Given the description of an element on the screen output the (x, y) to click on. 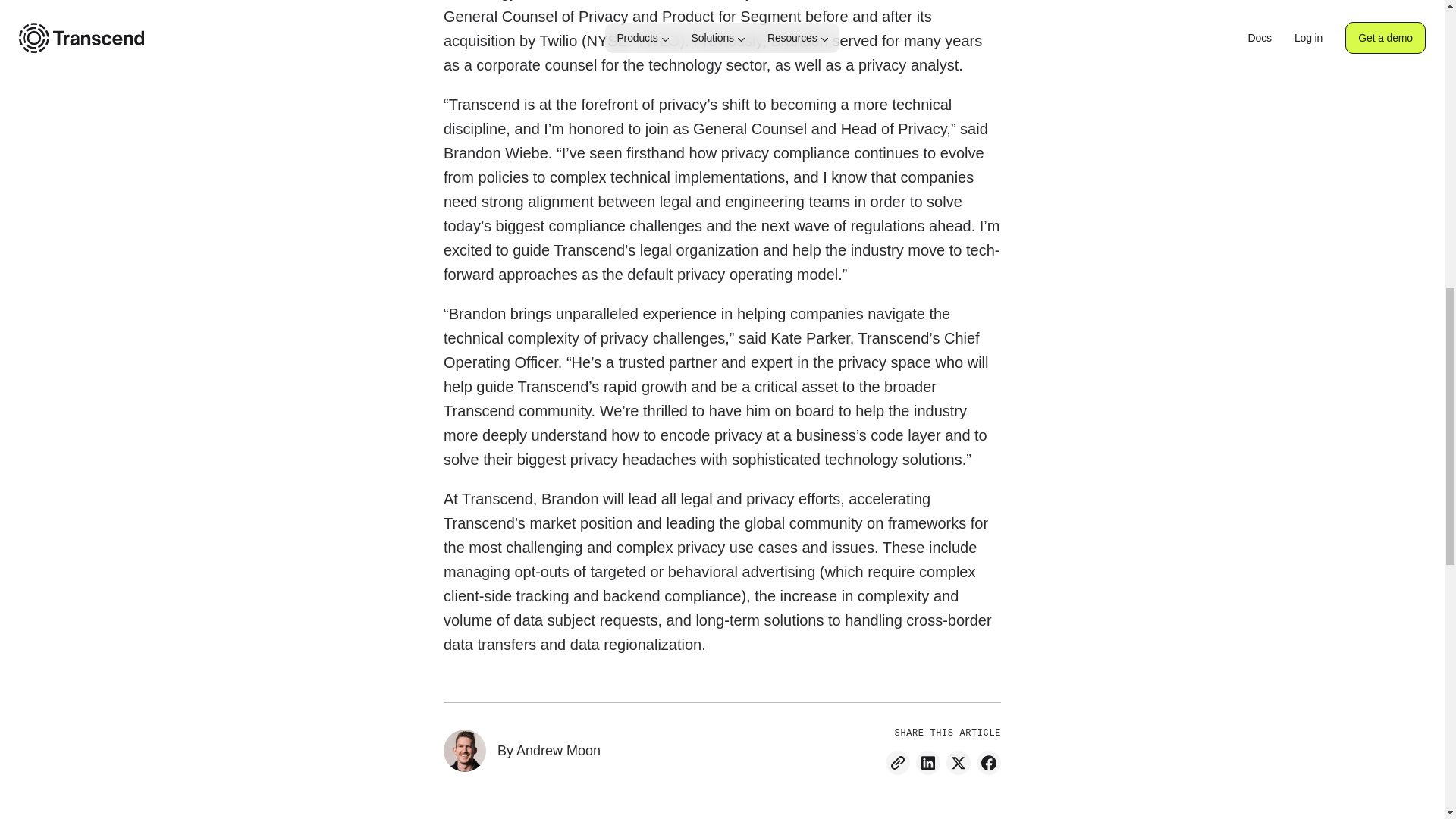
Andrew Moon (557, 750)
